Given the description of an element on the screen output the (x, y) to click on. 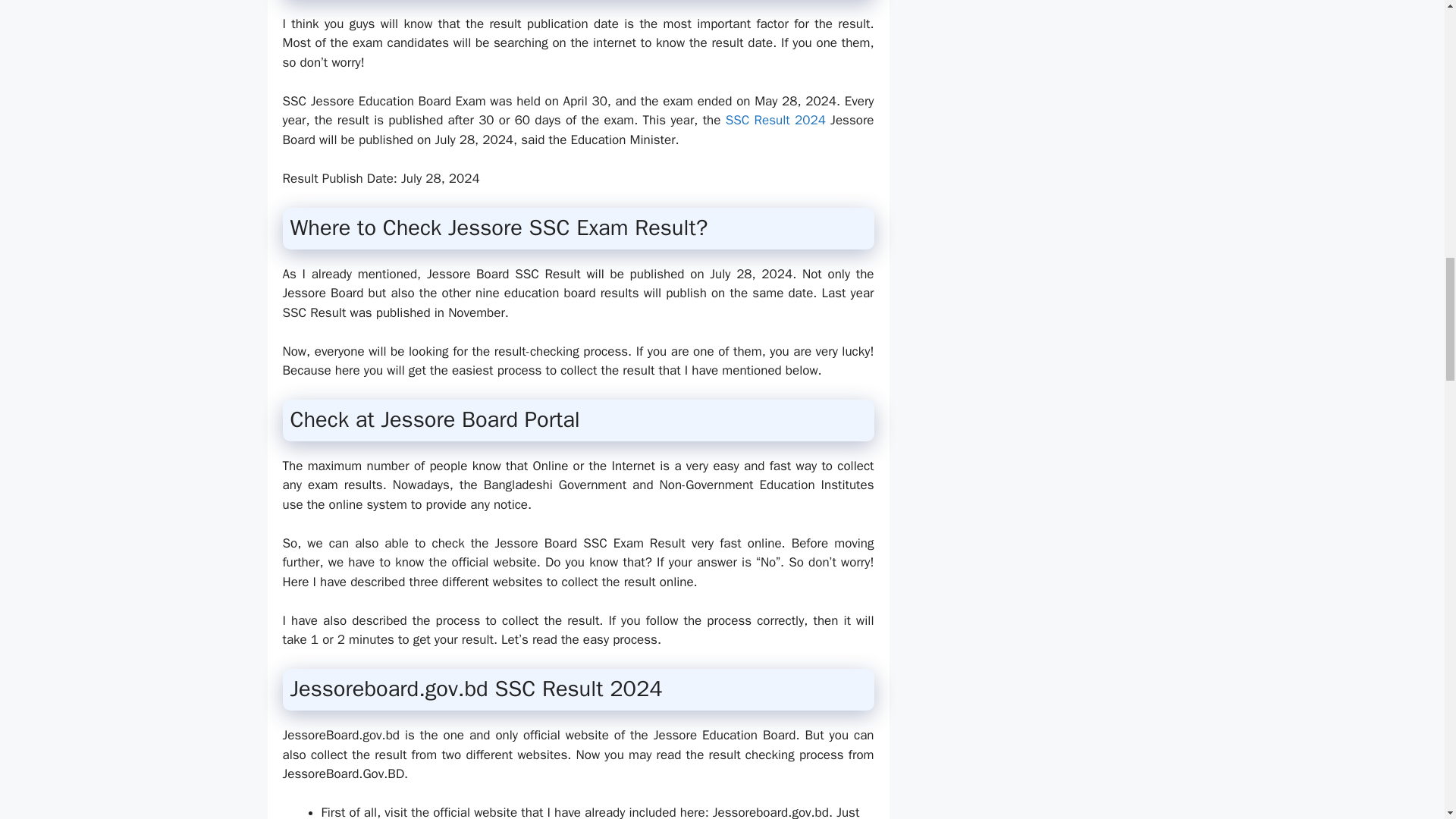
SSC Result 2024 (775, 119)
